Given the description of an element on the screen output the (x, y) to click on. 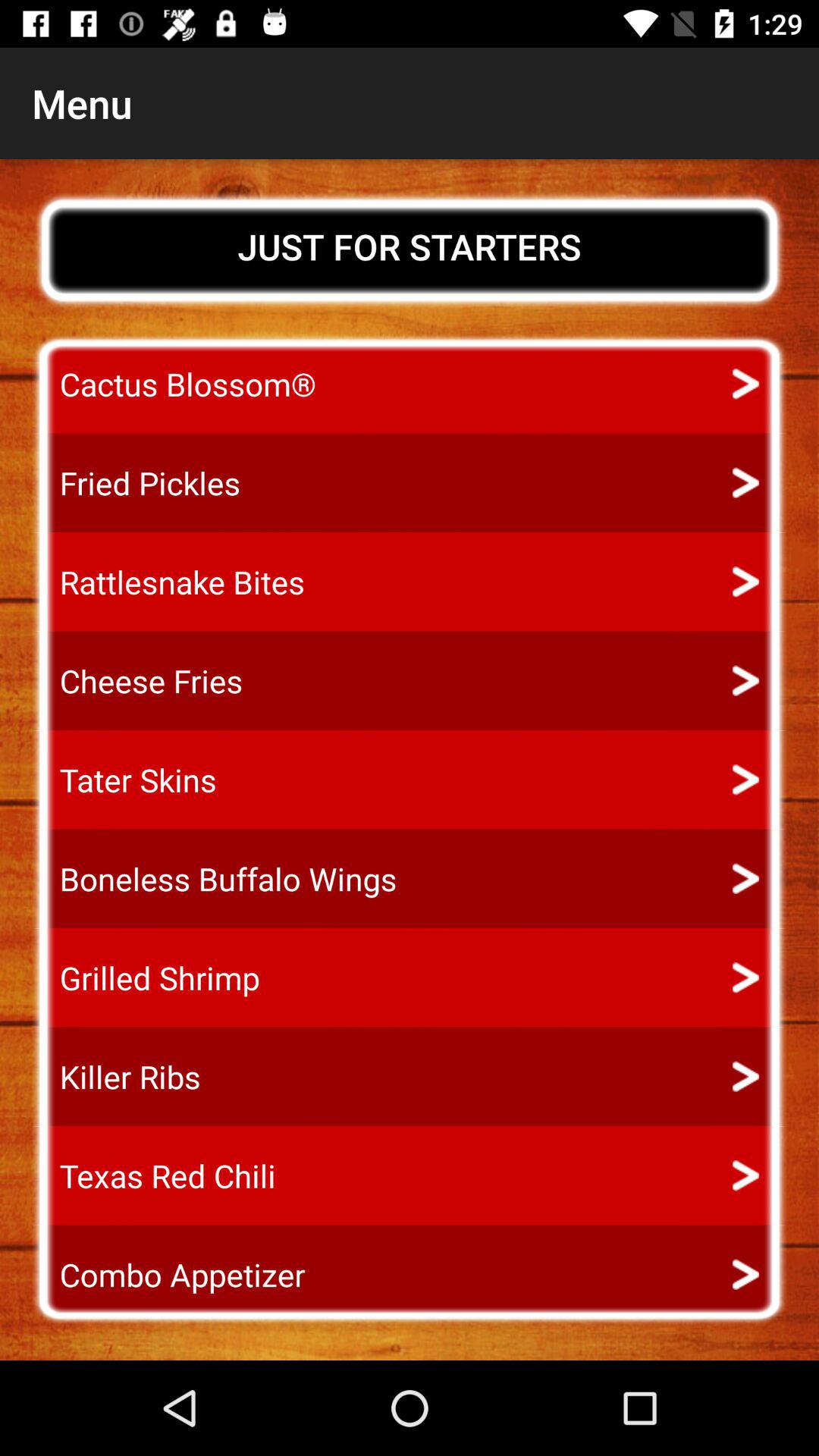
flip until the fried pickles item (135, 482)
